Given the description of an element on the screen output the (x, y) to click on. 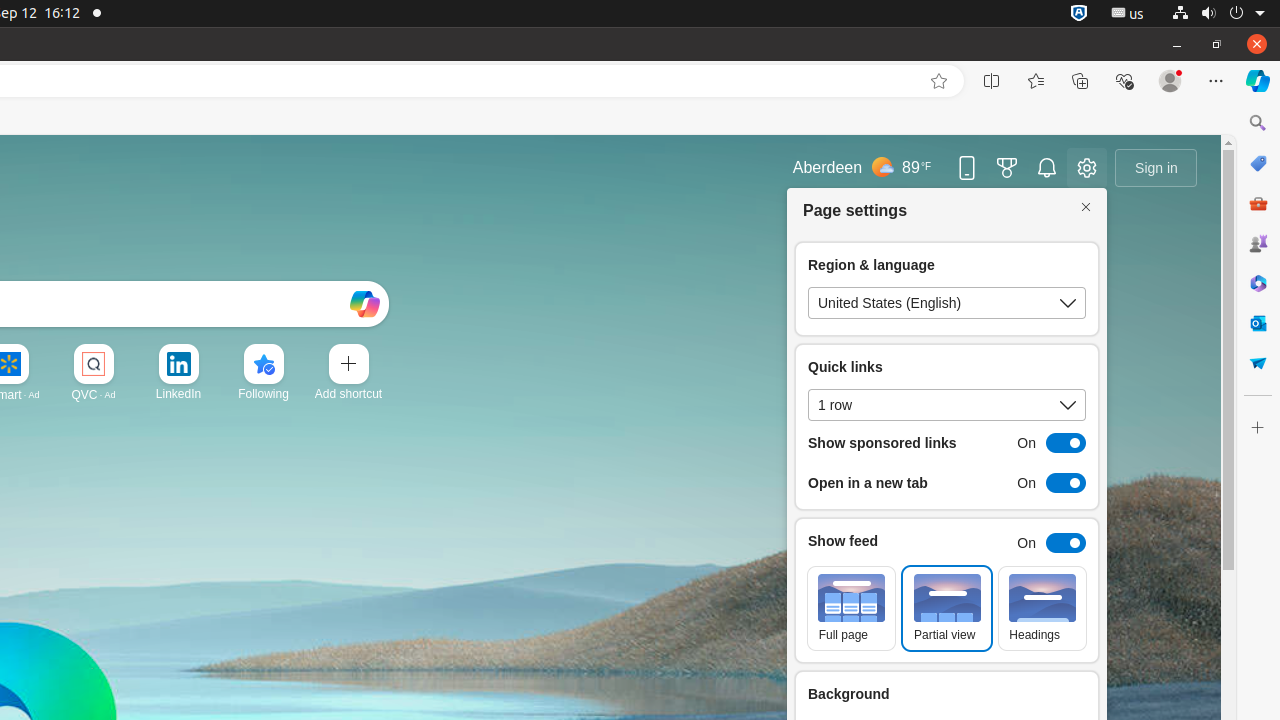
Click to open the link to download the Microsoft Start mobile app Element type: push-button (967, 168)
Split screen Element type: push-button (992, 81)
Open Copilot Element type: push-button (364, 303)
LinkedIn Element type: link (178, 393)
Tools Element type: push-button (1258, 202)
